Given the description of an element on the screen output the (x, y) to click on. 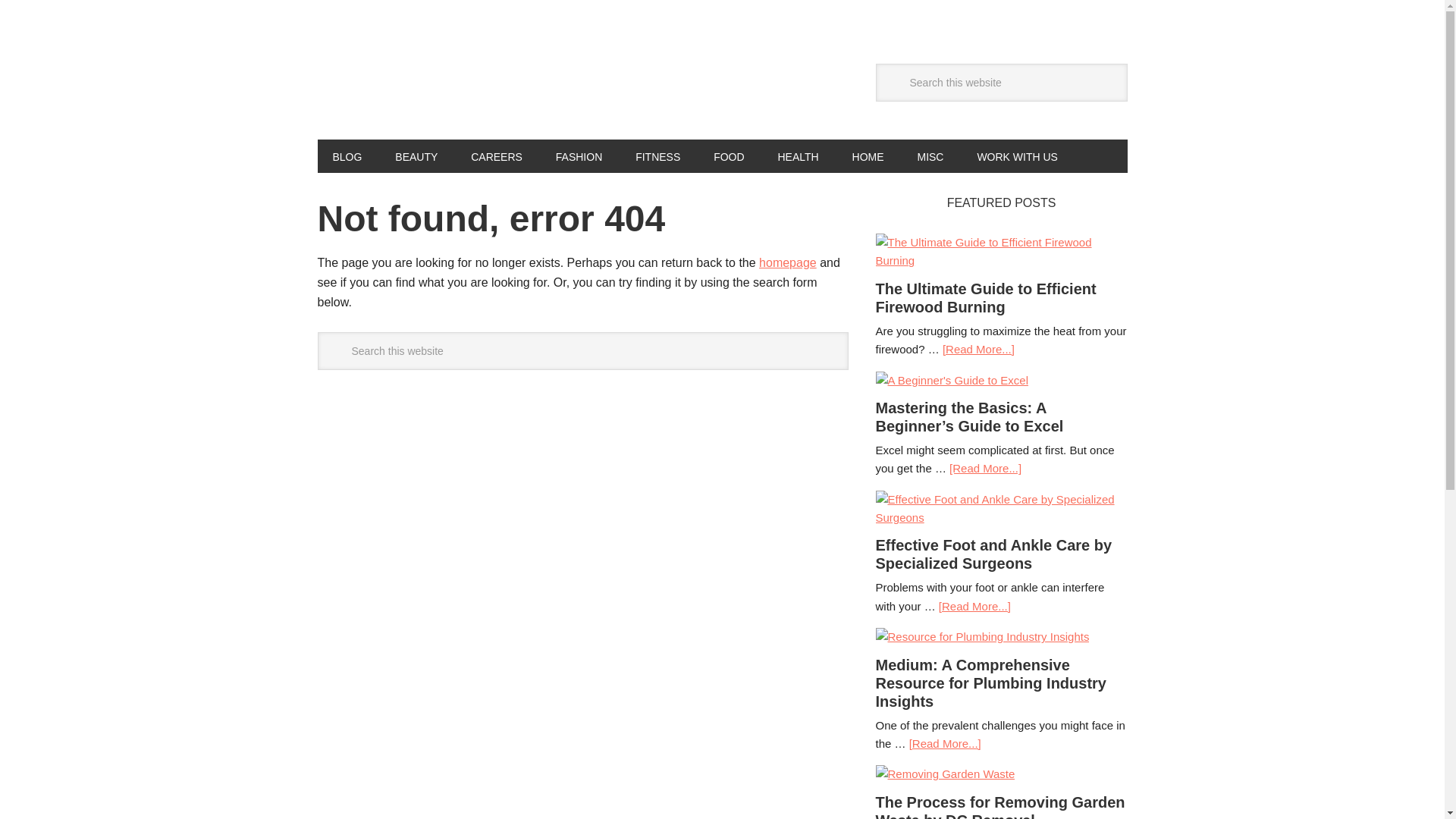
The Ultimate Guide to Efficient Firewood Burning (985, 297)
HEALTH (798, 155)
BLOG (347, 155)
FITNESS (657, 155)
HOME (868, 155)
FASHION (578, 155)
CAREERS (496, 155)
BEAUTY (416, 155)
WORK WITH US (1016, 155)
